Given the description of an element on the screen output the (x, y) to click on. 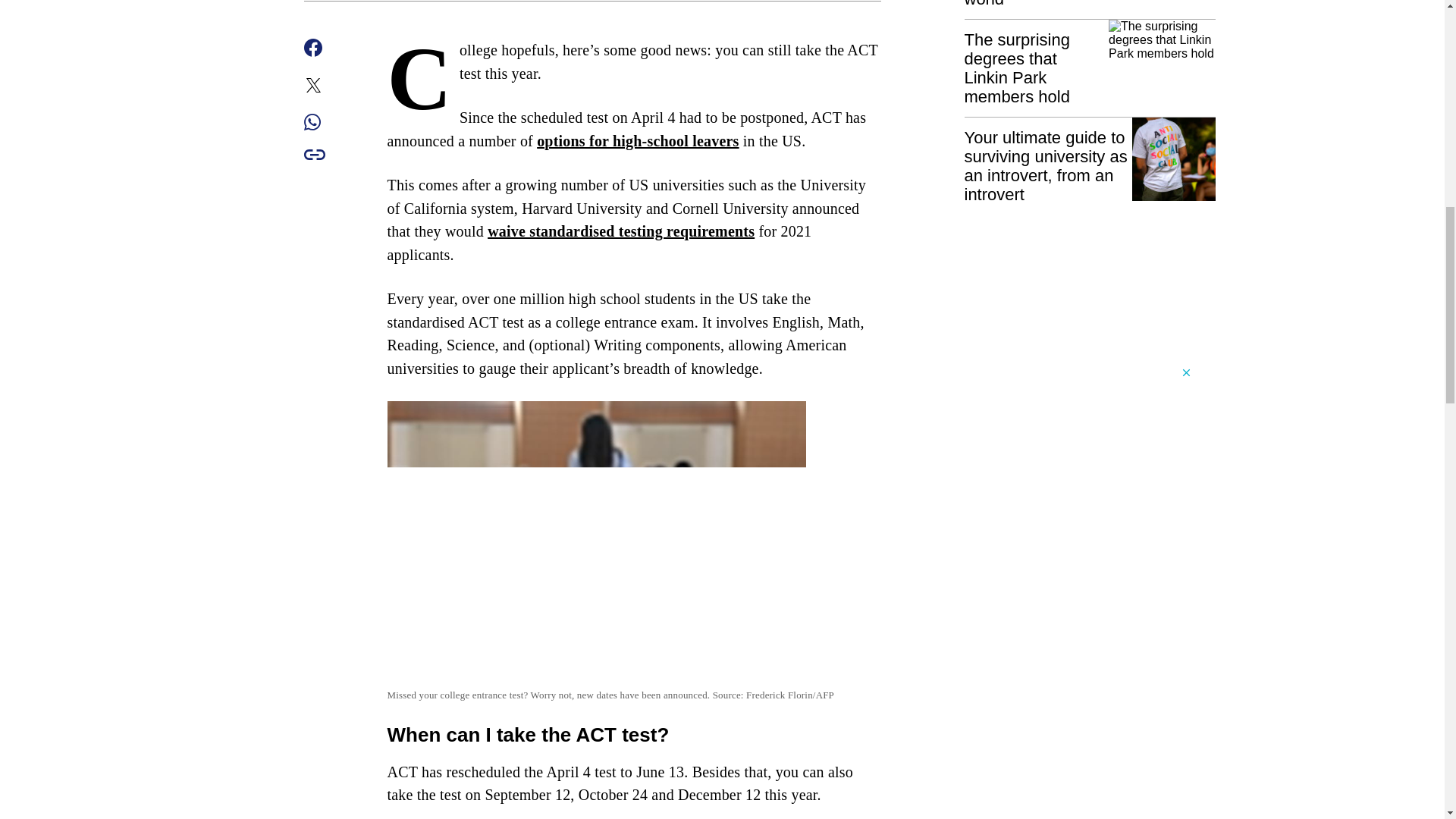
waive standardised testing requirements (620, 230)
8 sexiest languages in the world (1089, 4)
The surprising degrees that Linkin Park members hold (1089, 62)
options for high-school leavers (637, 140)
